Given the description of an element on the screen output the (x, y) to click on. 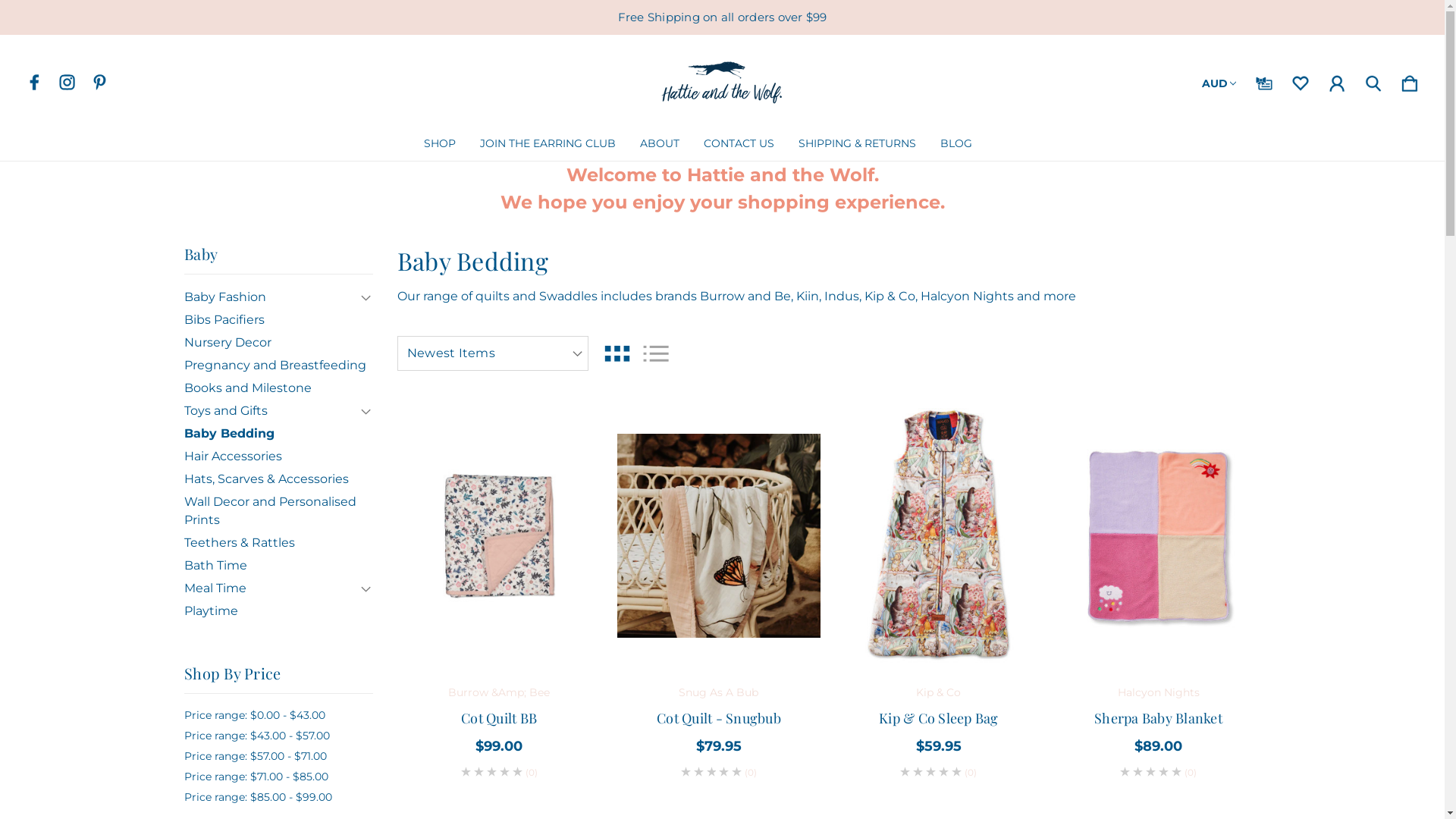
Price range: $71.00 - $85.00 Element type: text (278, 776)
Cot Quilt BB Element type: text (499, 718)
Price range: $57.00 - $71.00 Element type: text (278, 756)
Sherpa Baby Blanket Element type: hover (1158, 535)
Cot Quilt - Snugbub Element type: hover (719, 535)
Price range: $43.00 - $57.00 Element type: text (278, 735)
Baby Bedding Element type: text (278, 433)
Hats, Scarves & Accessories Element type: text (278, 478)
Hattie and the Wolf Element type: hover (722, 80)
Kip & Co Sleep Bag Element type: hover (938, 534)
Pregnancy and Breastfeeding Element type: text (278, 365)
Toys and Gifts Element type: text (278, 410)
Meal Time Element type: text (278, 588)
Kip & Co Sleep Bag Element type: text (938, 718)
Teethers & Rattles Element type: text (278, 542)
BLOG Element type: text (956, 143)
Wall Decor and Personalised Prints Element type: text (278, 510)
Baby Fashion Element type: text (278, 296)
Bibs Pacifiers Element type: text (278, 319)
Price range: $0.00 - $43.00 Element type: text (278, 715)
Books and Milestone Element type: text (278, 387)
CONTACT US Element type: text (738, 143)
ABOUT Element type: text (659, 143)
Hair Accessories Element type: text (278, 456)
SHIPPING & RETURNS Element type: text (857, 143)
Nursery Decor Element type: text (278, 342)
Toggle Grid View Element type: hover (616, 353)
JOIN THE EARRING CLUB Element type: text (547, 143)
Cot Quilt BB Element type: hover (499, 535)
Bath Time Element type: text (278, 565)
Playtime Element type: text (278, 610)
Price range: $85.00 - $99.00 Element type: text (278, 797)
Cot Quilt - Snugbub Element type: text (719, 718)
Toggle List View Element type: hover (655, 353)
Sherpa Baby Blanket Element type: text (1158, 718)
AUD Element type: text (1218, 80)
SHOP Element type: text (439, 143)
